Given the description of an element on the screen output the (x, y) to click on. 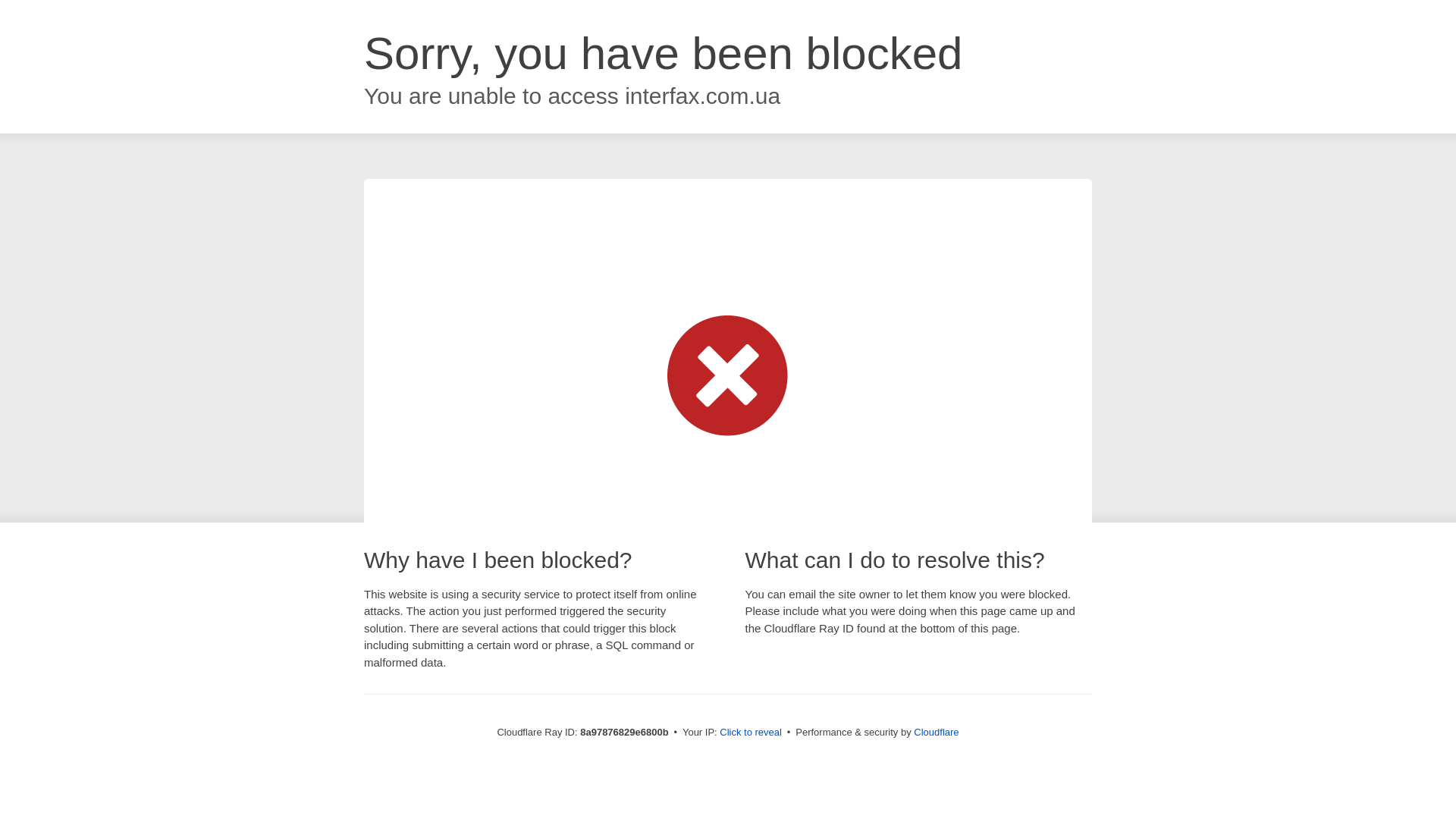
Cloudflare (936, 731)
Click to reveal (750, 732)
